Given the description of an element on the screen output the (x, y) to click on. 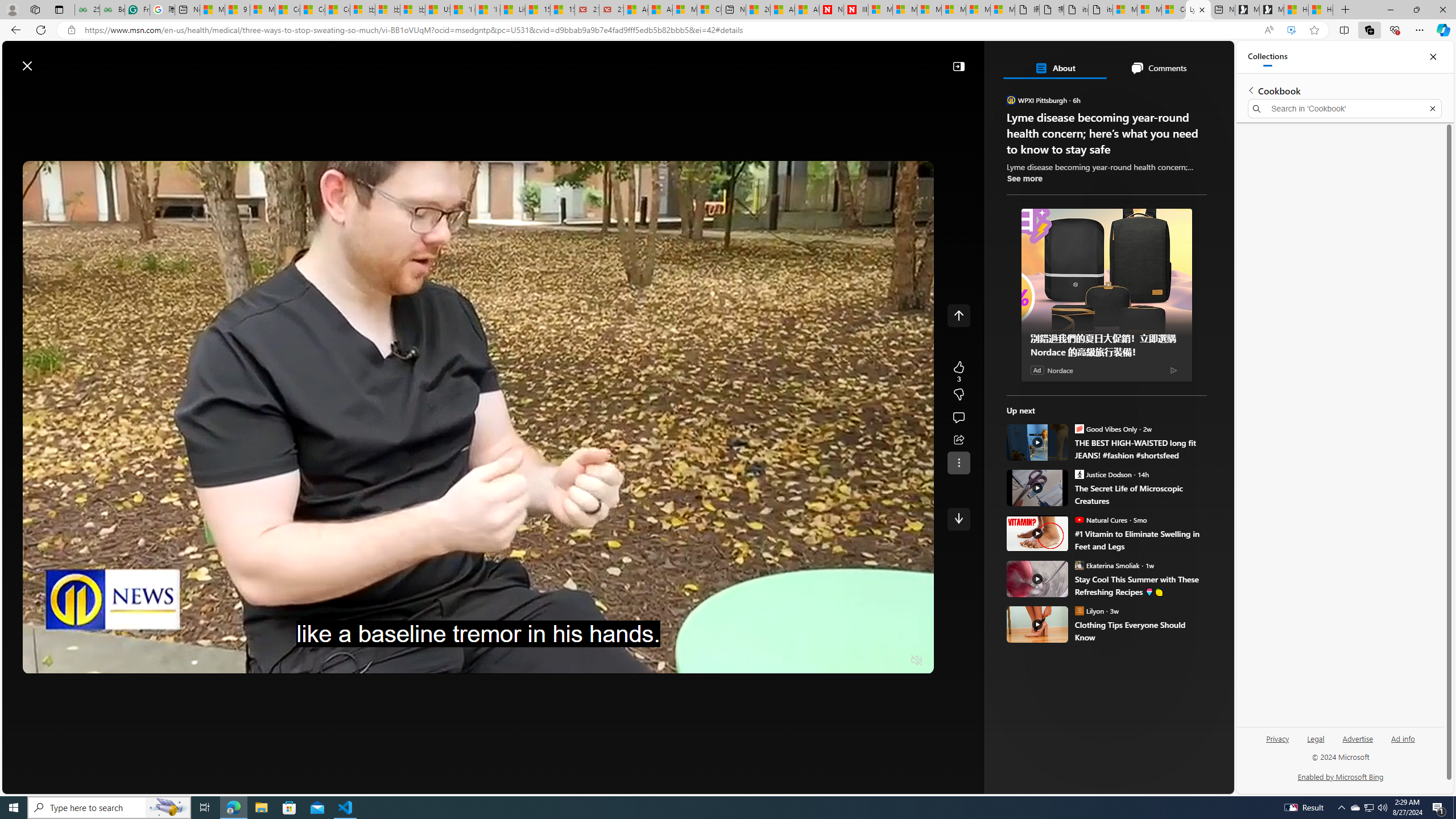
Ad Choice (1173, 369)
Illness news & latest pictures from Newsweek.com (855, 9)
Dislike (958, 394)
Best SSL Certificates Provider in India - GeeksforGeeks (111, 9)
Advertise (1357, 738)
Share this story (958, 440)
Ad info (1402, 738)
Clothing Tips Everyone Should Know (1037, 624)
Comments (1157, 67)
Good Vibes Only (1079, 428)
Class: control icon-only (958, 315)
Search in 'Cookbook' (1345, 108)
